Given the description of an element on the screen output the (x, y) to click on. 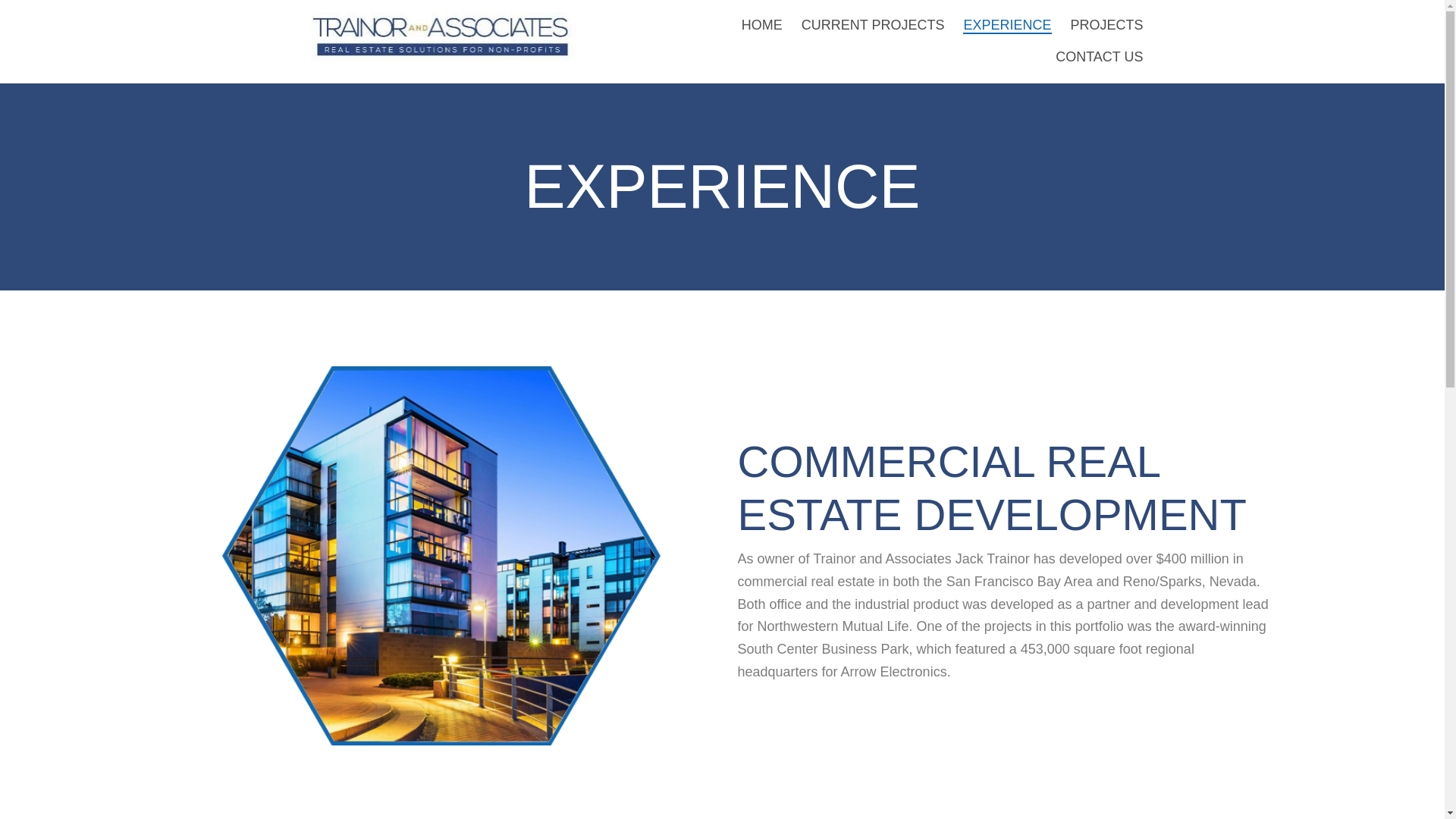
CONTACT US (1099, 55)
logo (443, 33)
EXPERIENCE (1006, 23)
PROJECTS (1106, 23)
CURRENT PROJECTS (872, 23)
HOME (761, 23)
